Given the description of an element on the screen output the (x, y) to click on. 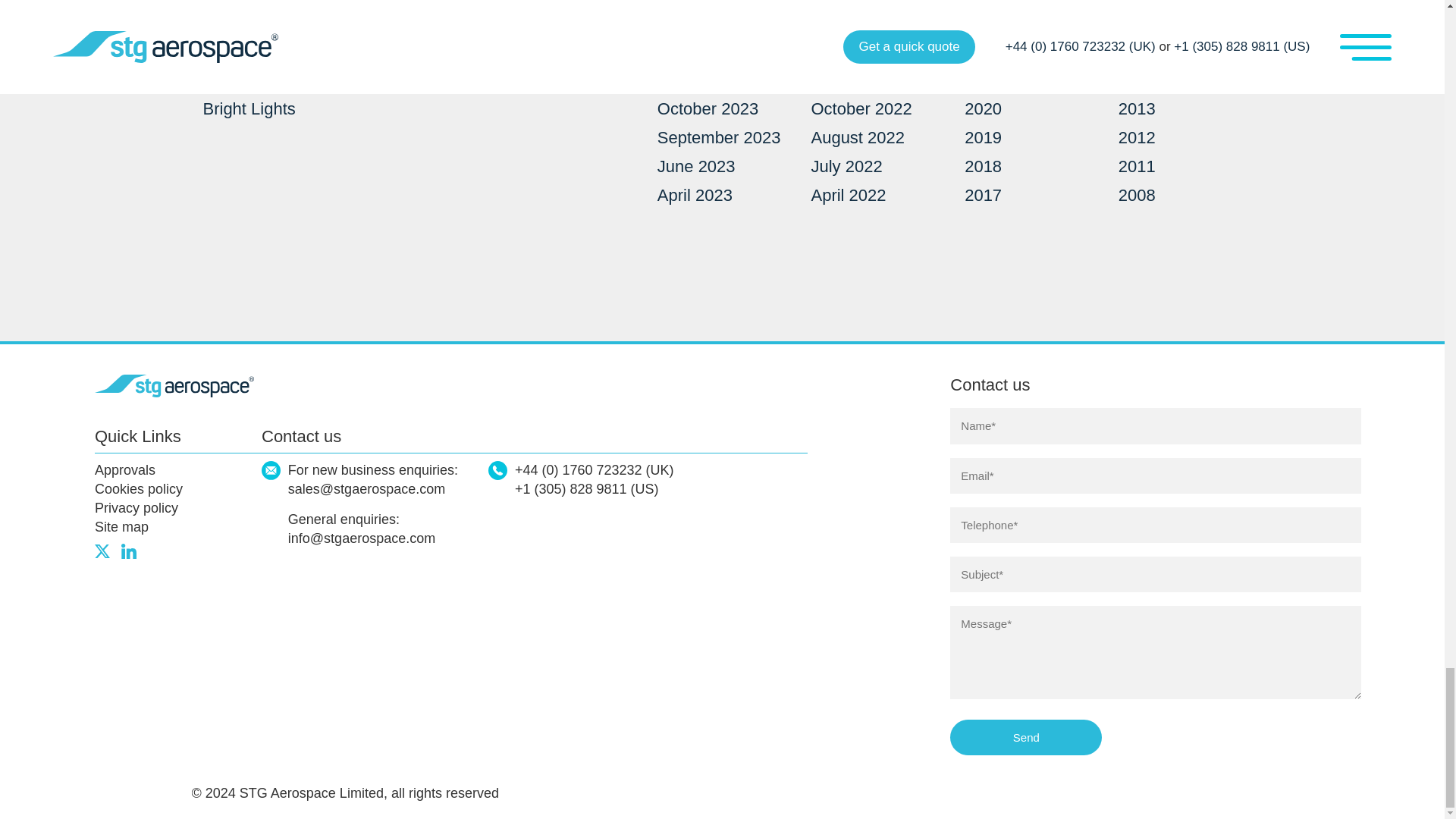
X (102, 550)
Linked In (128, 550)
Send (1026, 737)
Company News (261, 22)
